Given the description of an element on the screen output the (x, y) to click on. 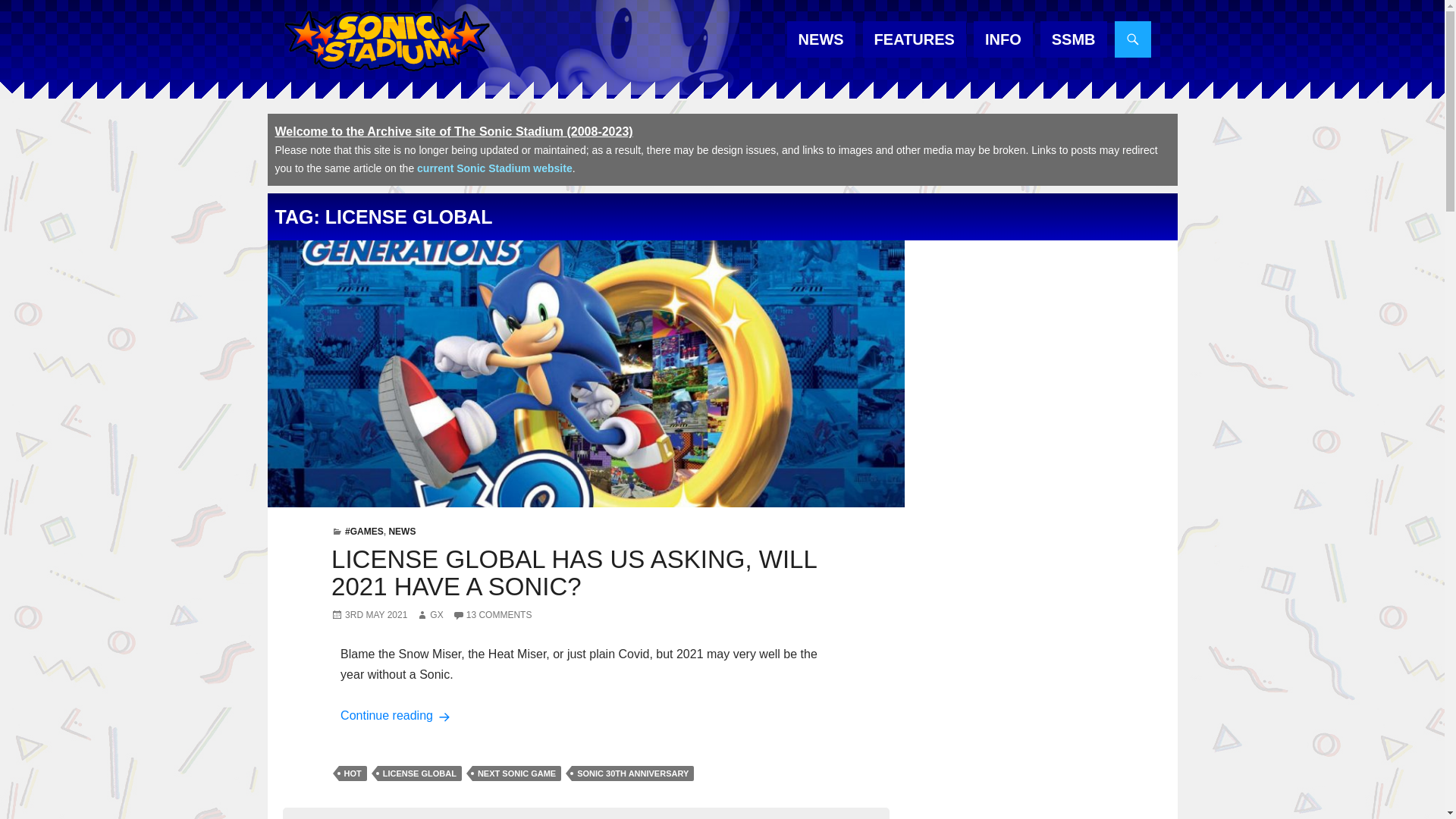
NEWS (821, 39)
SSMB (1073, 39)
FEATURES (914, 39)
INFO (1003, 39)
Go back to the HOME Page... (385, 40)
